Given the description of an element on the screen output the (x, y) to click on. 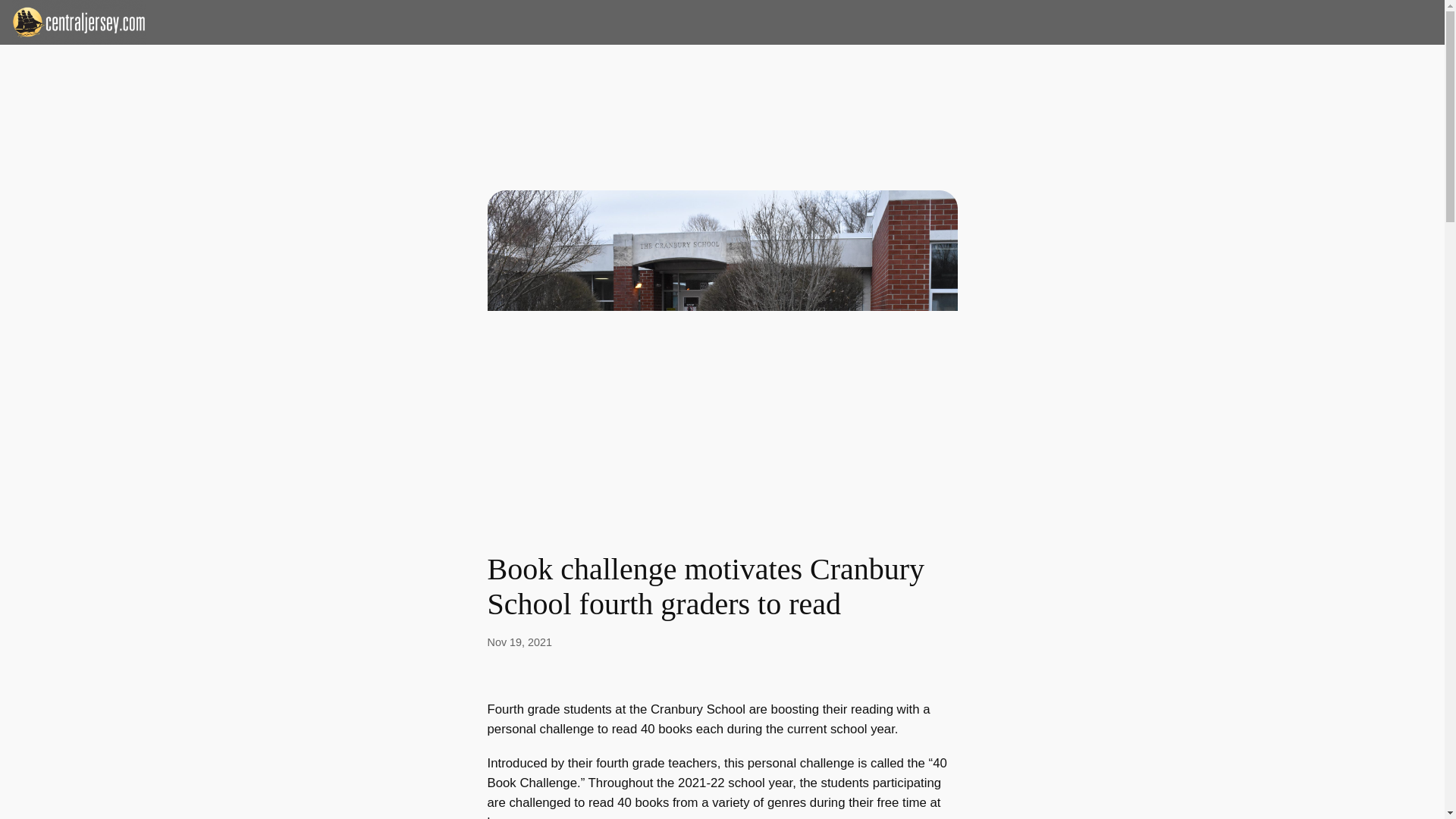
Nov 19, 2021 (518, 642)
